Given the description of an element on the screen output the (x, y) to click on. 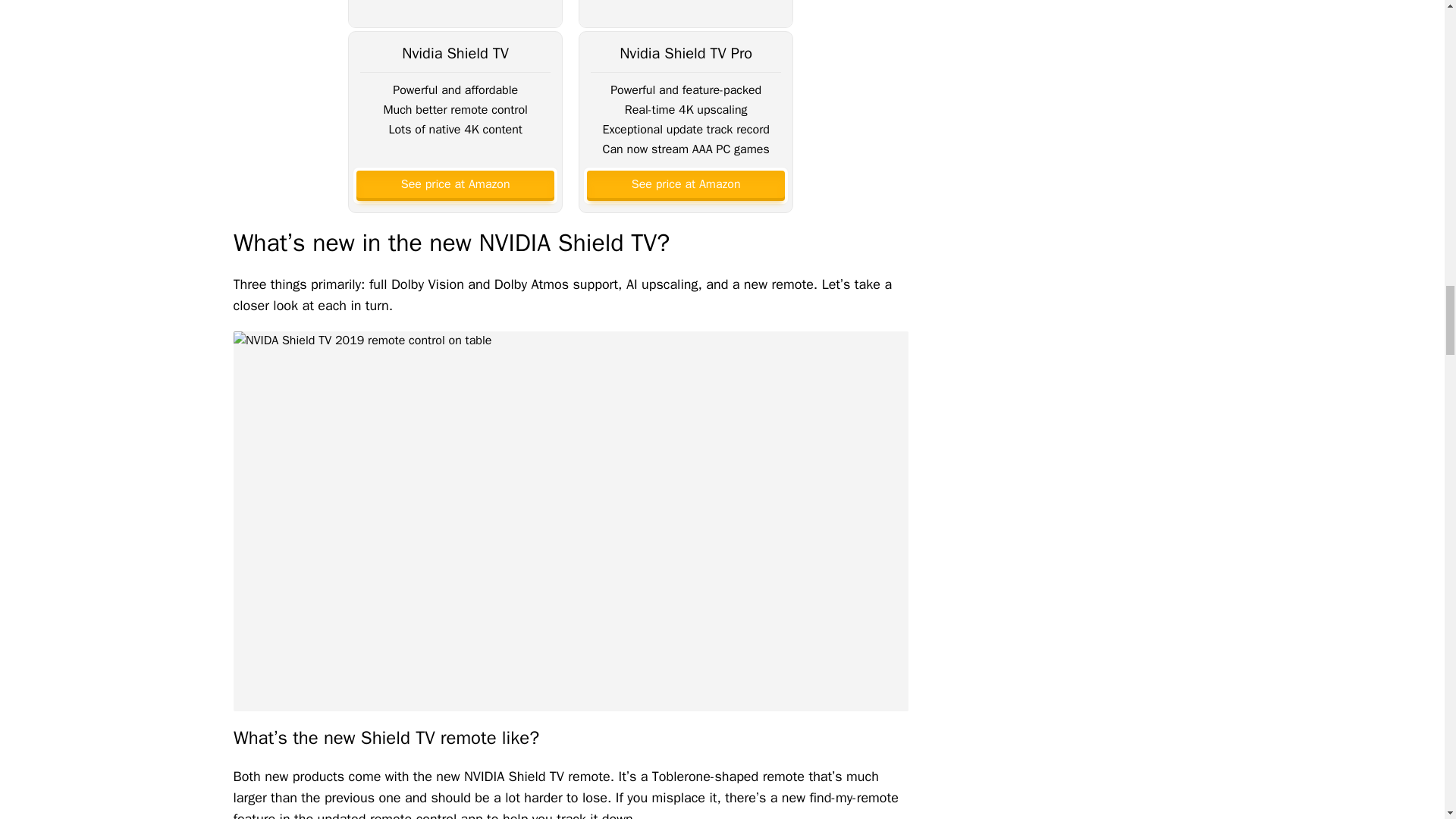
See price at Amazon (685, 184)
See price at Amazon (455, 184)
